Given the description of an element on the screen output the (x, y) to click on. 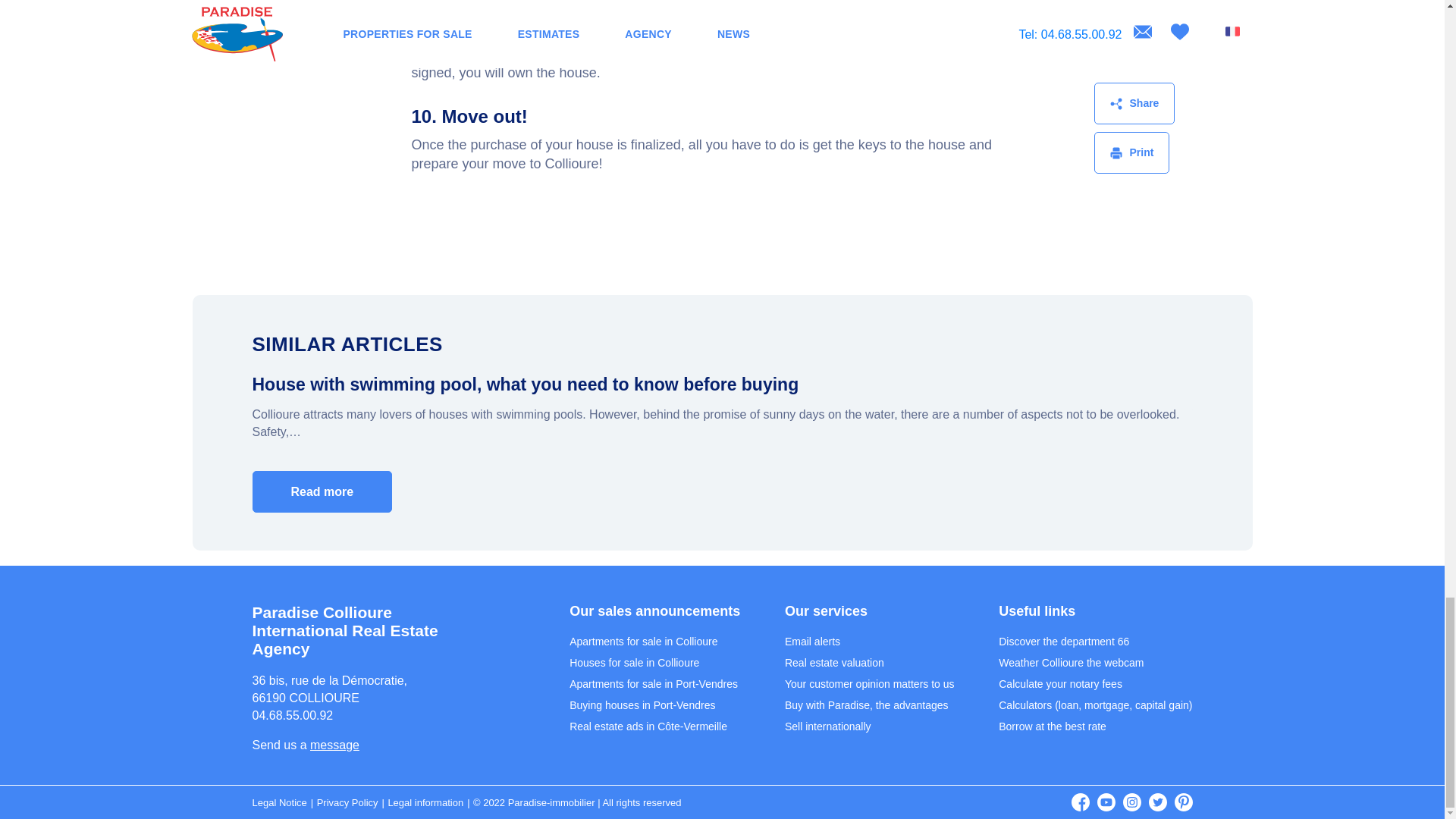
Real estate valuation (833, 662)
Discover the department 66 (1063, 641)
Apartments for sale in Port-Vendres (653, 684)
message (334, 744)
Email alerts (812, 641)
Buy with Paradise, the advantages (866, 705)
Buying houses in Port-Vendres (641, 705)
Apartments for sale in Collioure (643, 641)
Your customer opinion matters to us (869, 684)
Houses for sale in Collioure (633, 662)
